Given the description of an element on the screen output the (x, y) to click on. 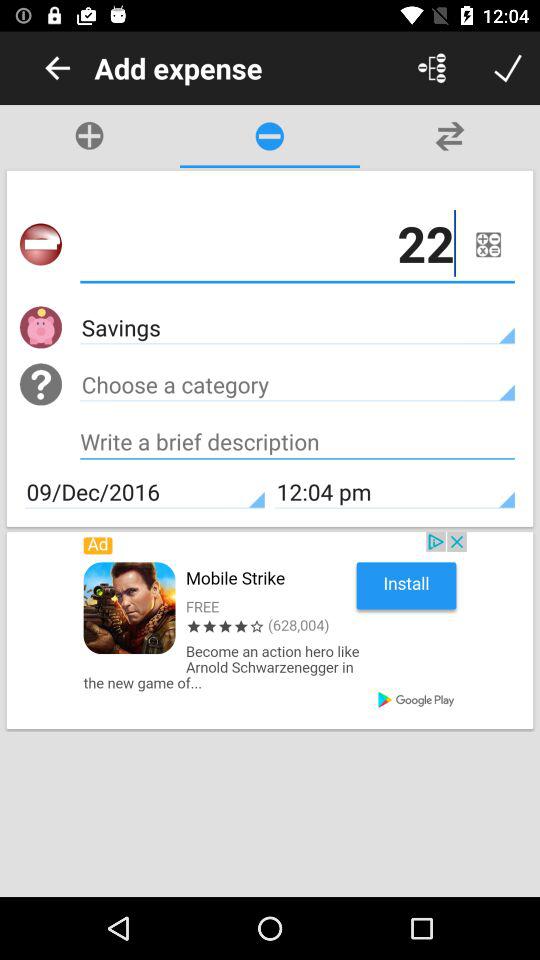
go to advertisement (269, 630)
